Given the description of an element on the screen output the (x, y) to click on. 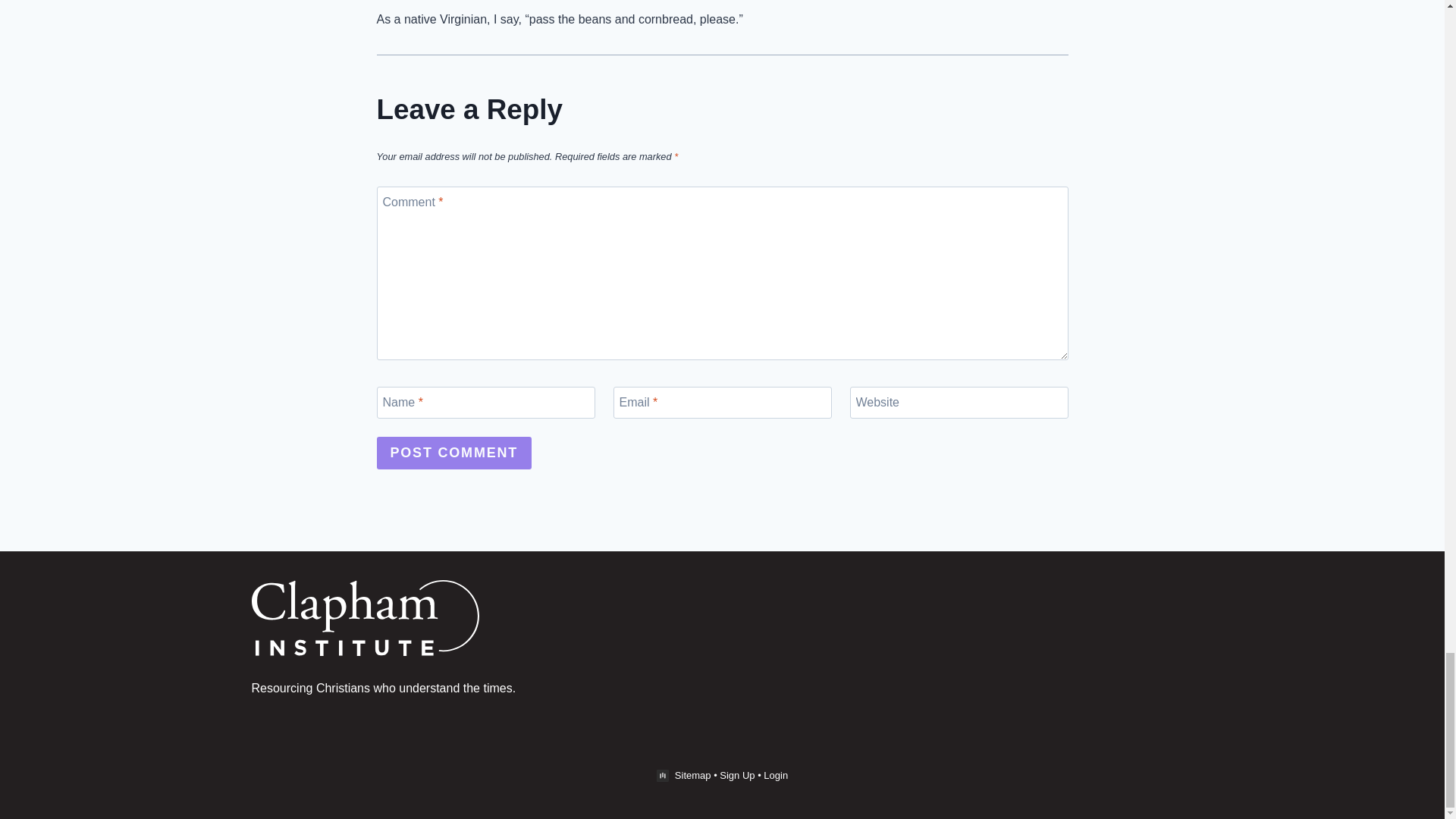
Sitemap (693, 775)
Post Comment (453, 452)
Sign Up (736, 775)
Login (774, 775)
Post Comment (453, 452)
